Given the description of an element on the screen output the (x, y) to click on. 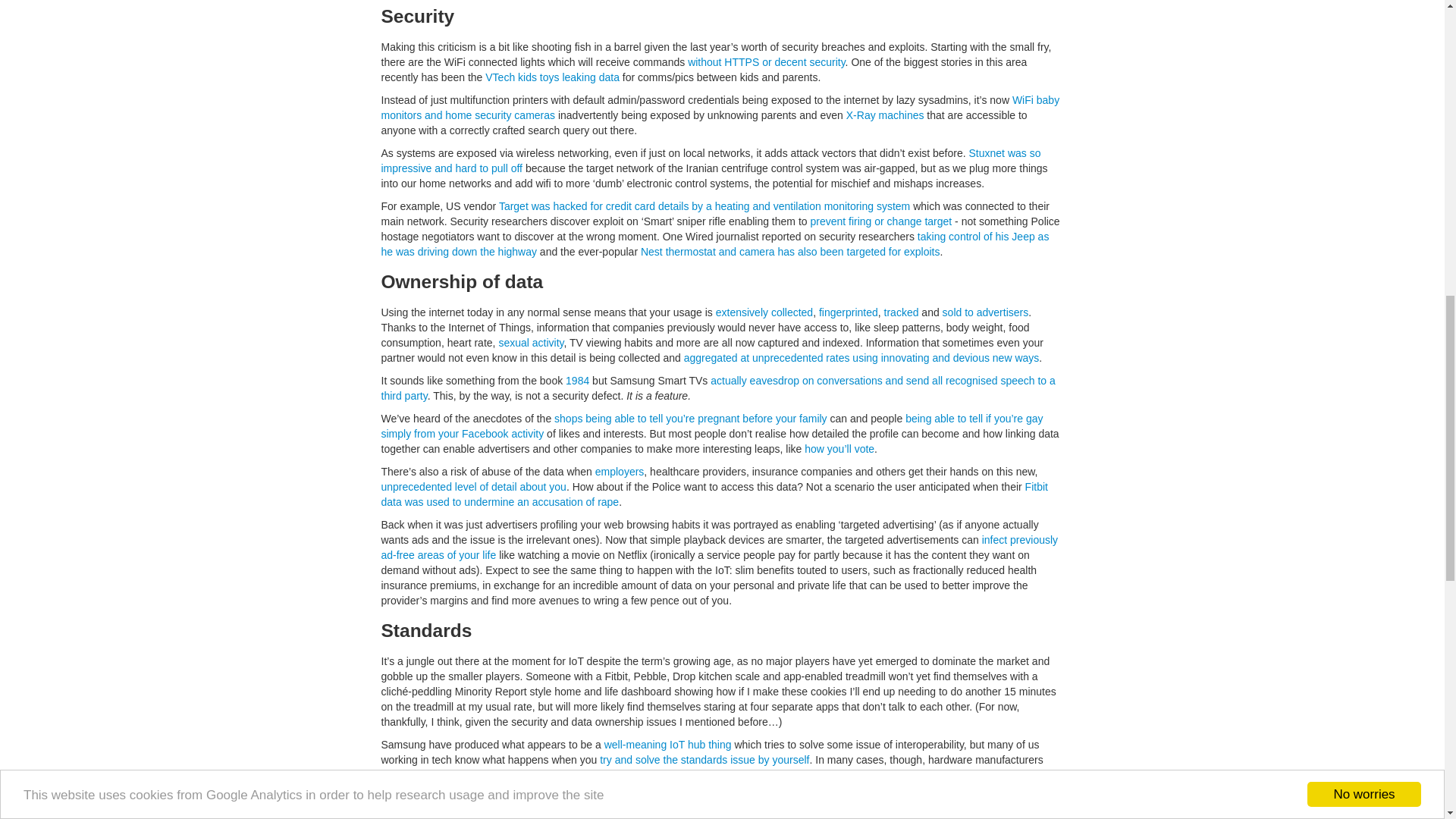
Stuxnet was so impressive and hard to pull off (710, 160)
tracked (900, 312)
X-Ray machines (884, 114)
well-meaning IoT hub thing (668, 744)
infect previously ad-free areas of your life (719, 547)
VTech kids toys leaking data (552, 77)
1984 (577, 380)
